Given the description of an element on the screen output the (x, y) to click on. 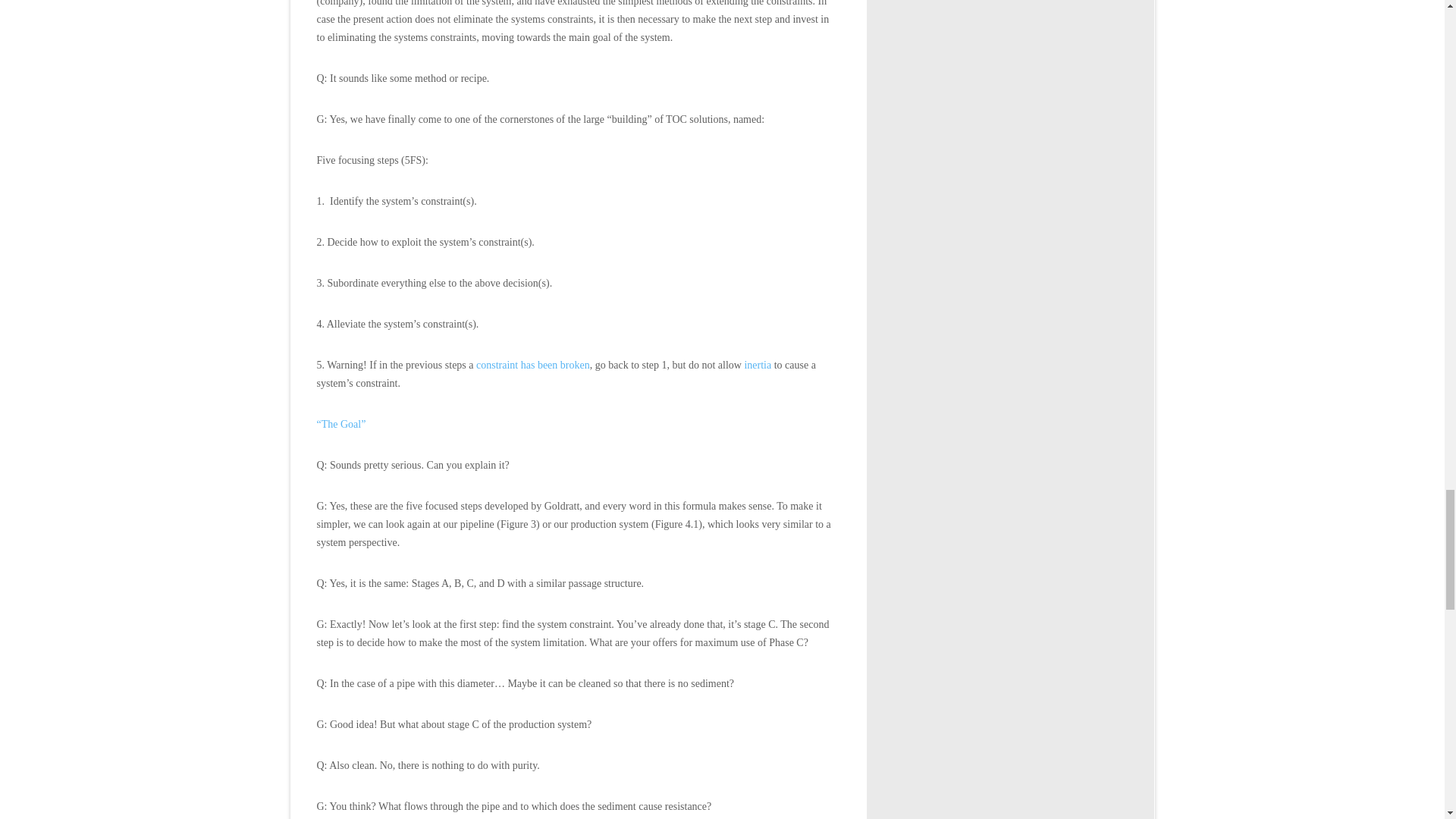
constraint has been broken (532, 365)
inertia (757, 365)
